Given the description of an element on the screen output the (x, y) to click on. 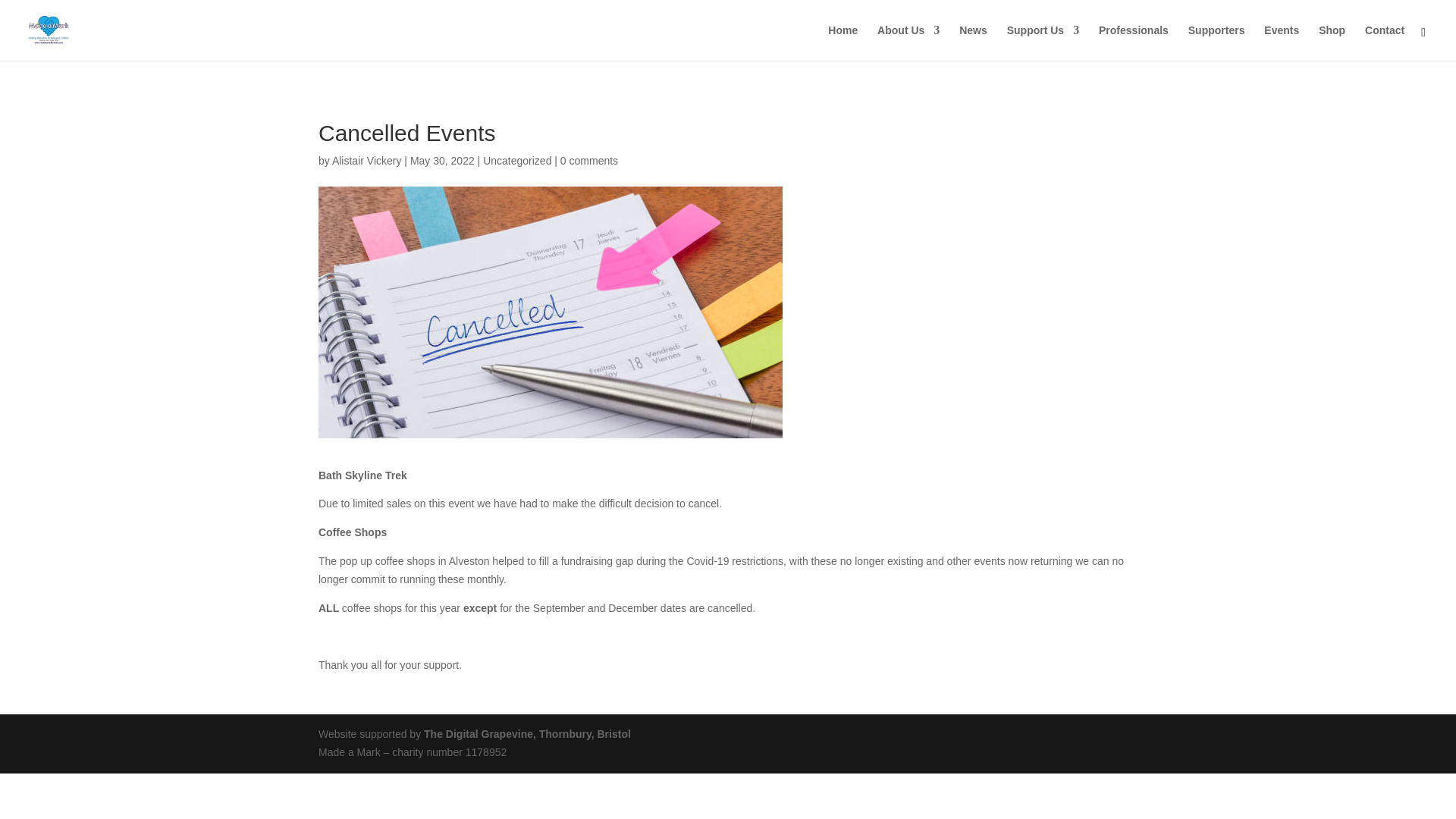
Support Us (1042, 42)
Contact (1385, 42)
Posts by Alistair Vickery (366, 160)
About Us (908, 42)
0 comments (588, 160)
Uncategorized (517, 160)
The Digital Grapevine, Thornbury, Bristol (526, 734)
Supporters (1216, 42)
Alistair Vickery (366, 160)
Professionals (1134, 42)
Events (1280, 42)
